Given the description of an element on the screen output the (x, y) to click on. 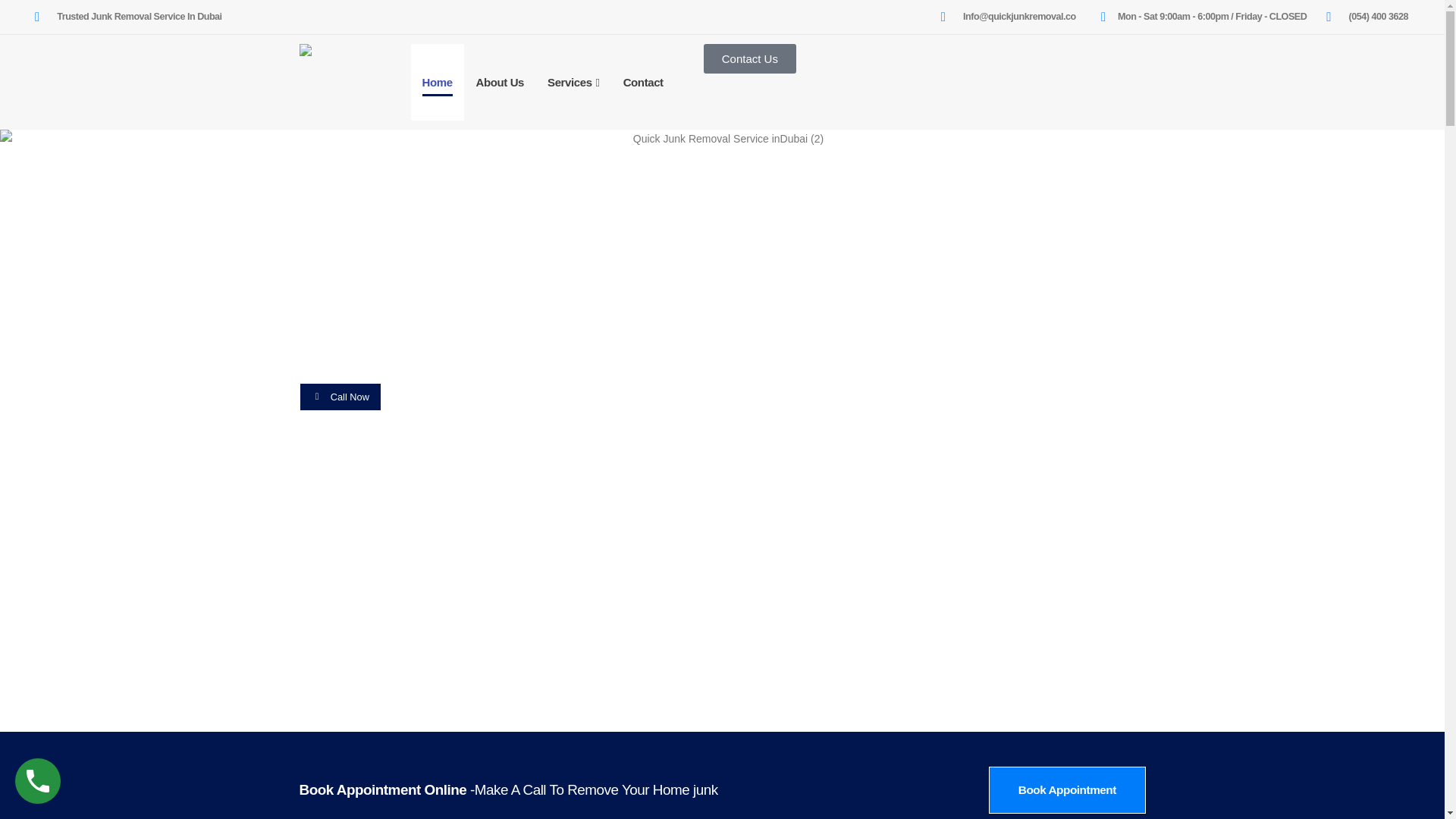
Services (573, 82)
Book Appointment (1066, 790)
Contact Us (749, 58)
About Us (499, 82)
Quick Junk Removal - Junk Removal Service in Dubai (344, 60)
Trusted Junk Removal Service In Dubai (128, 16)
Call Now (339, 397)
